Given the description of an element on the screen output the (x, y) to click on. 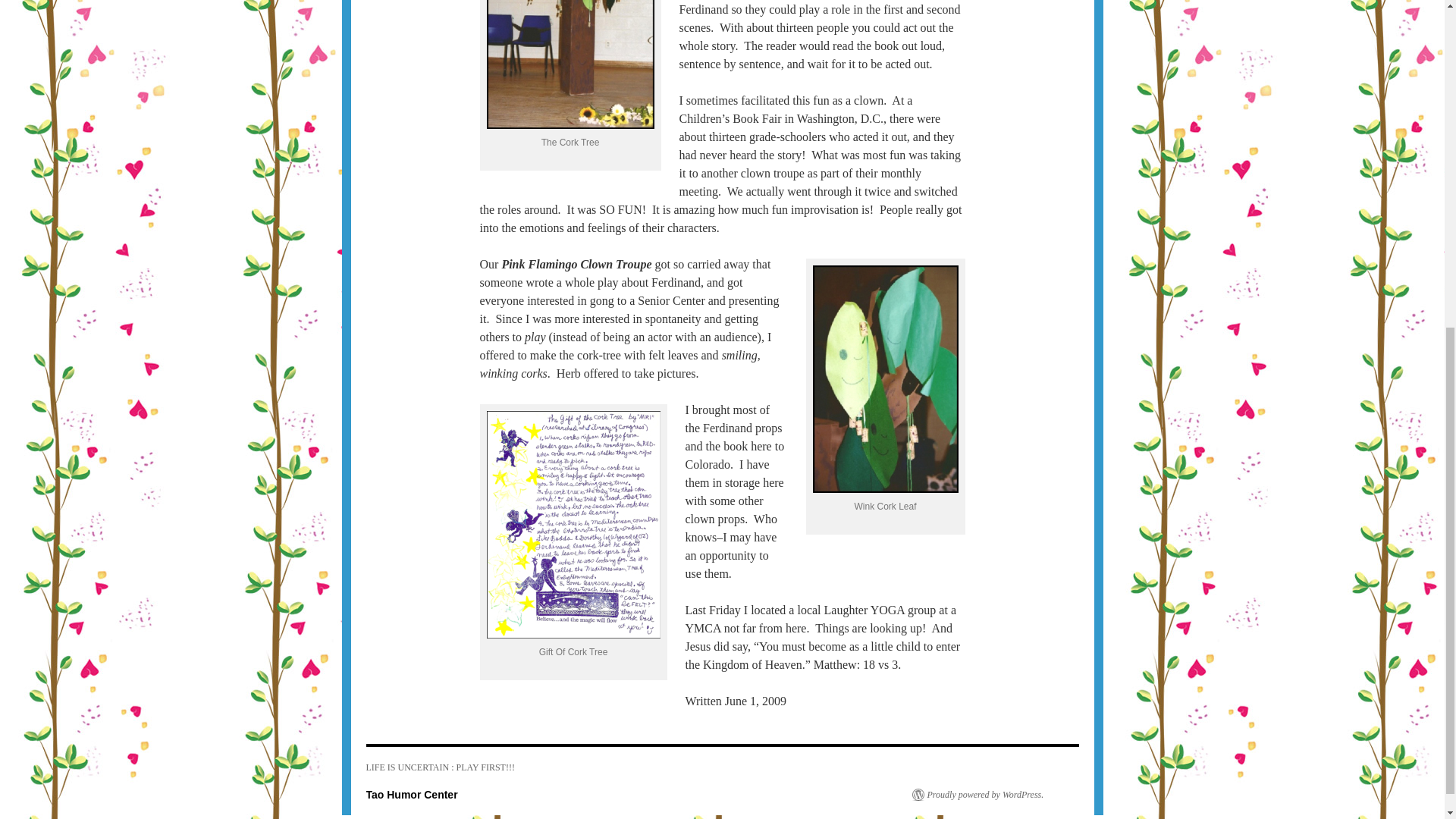
Semantic Personal Publishing Platform (977, 794)
Tao Humor Center (411, 794)
